Given the description of an element on the screen output the (x, y) to click on. 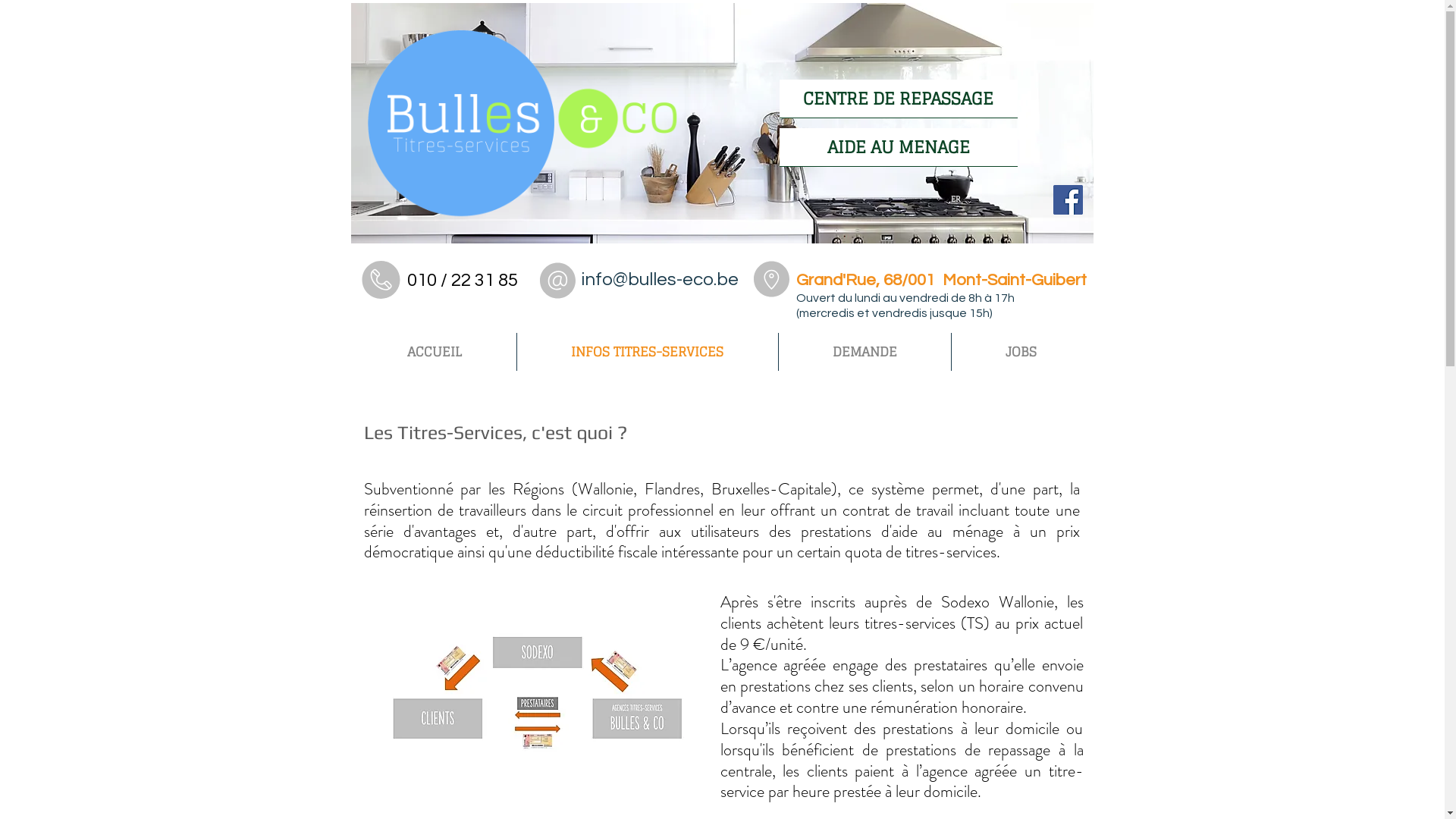
CENTRE DE REPASSAGE Element type: text (898, 98)
INFOS TITRES-SERVICES Element type: text (647, 351)
info@bulles-eco.be Element type: text (659, 278)
JOBS Element type: text (1019, 351)
ACCUEIL Element type: text (434, 351)
AIDE AU MENAGE Element type: text (898, 147)
DEMANDE Element type: text (864, 351)
